Given the description of an element on the screen output the (x, y) to click on. 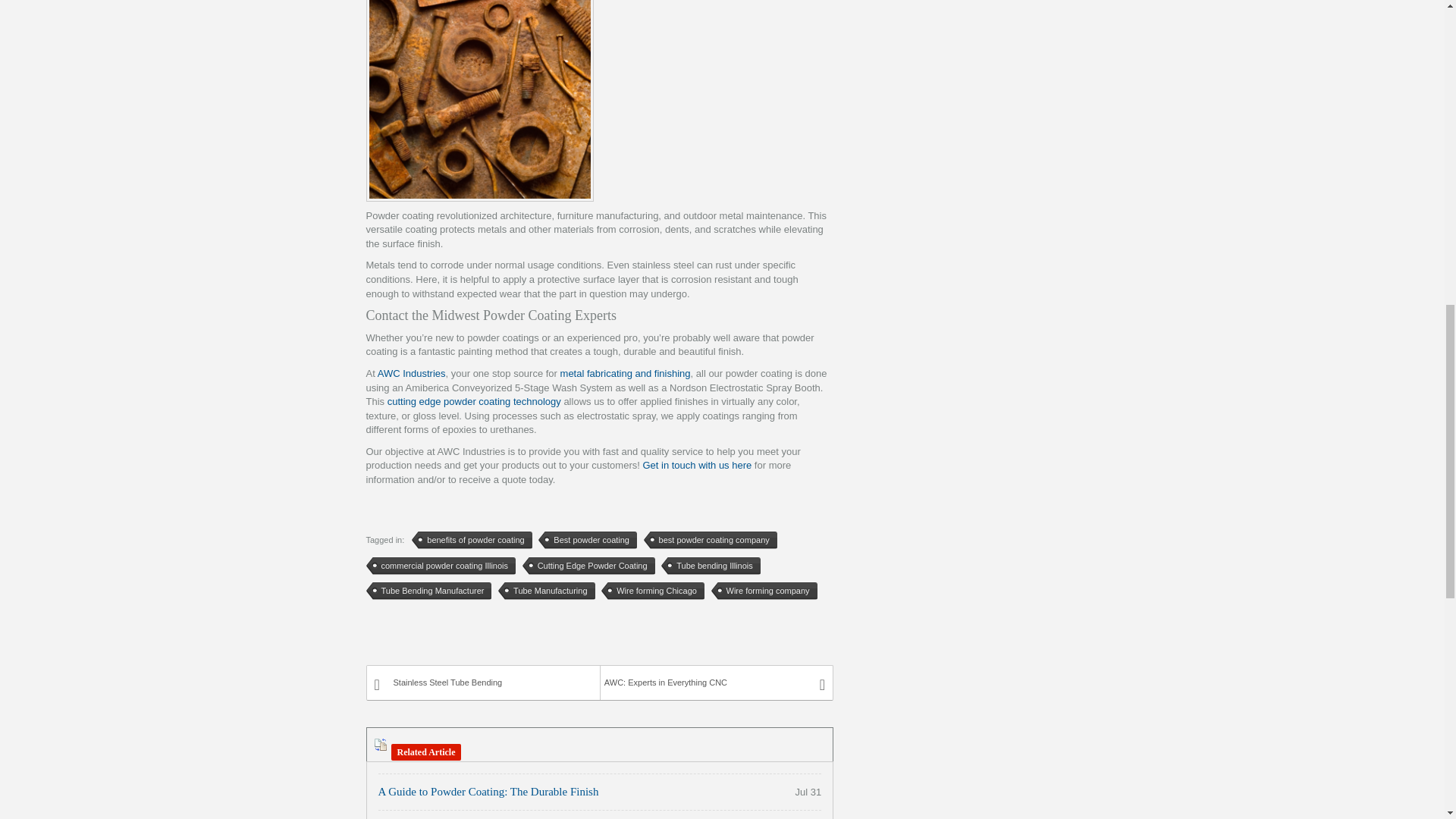
AWC Industries (411, 373)
metal fabricating and finishing (625, 373)
benefits of powder coating (471, 539)
Get in touch with us here (696, 464)
Best powder coating (587, 539)
cutting edge powder coating technology (473, 401)
